Given the description of an element on the screen output the (x, y) to click on. 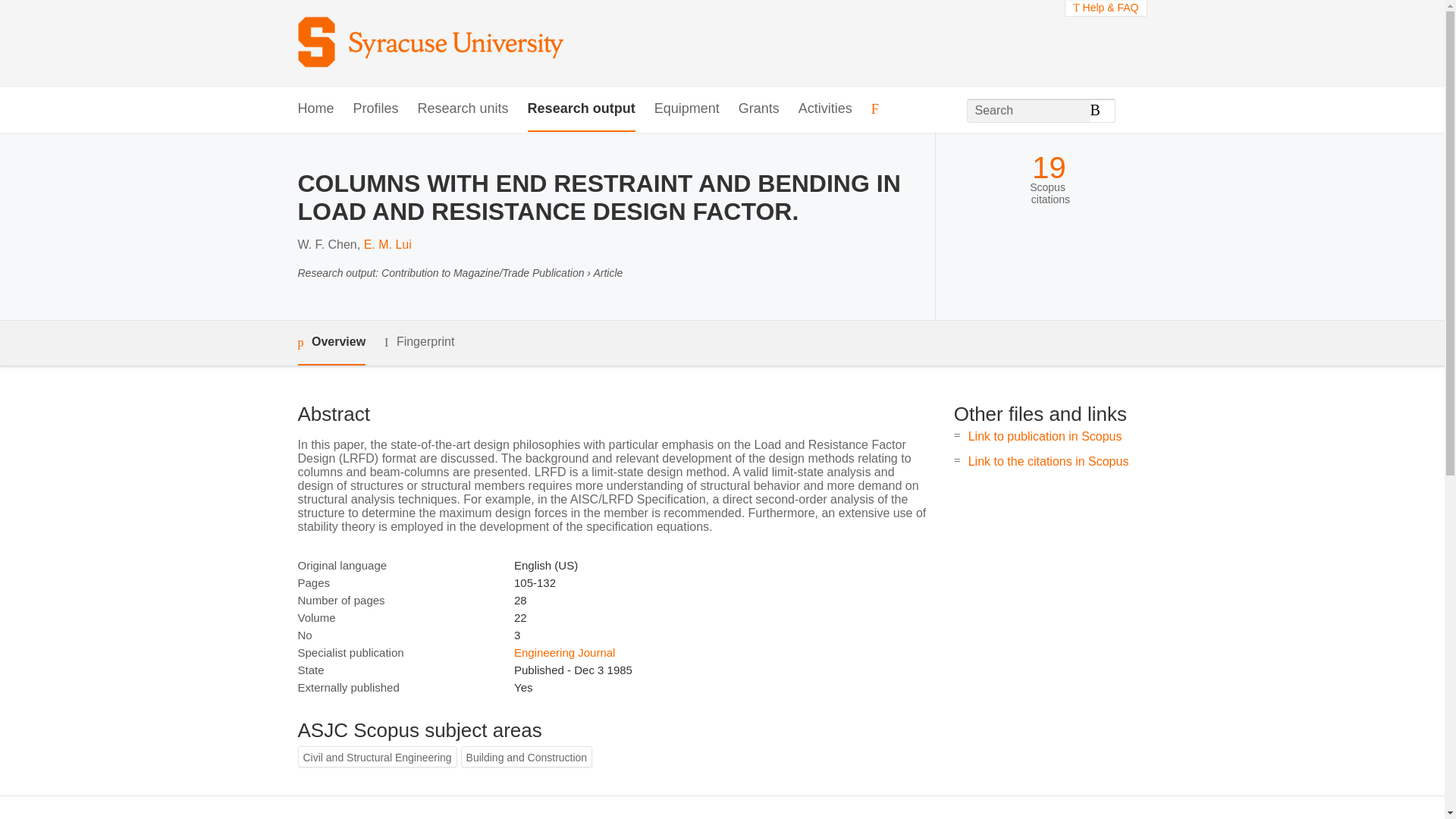
Profiles (375, 108)
Link to publication in Scopus (1045, 436)
Activities (824, 108)
Link to the citations in Scopus (1048, 461)
Overview (331, 343)
19 (1048, 167)
Fingerprint (419, 342)
Research output (580, 108)
Equipment (686, 108)
E. M. Lui (388, 244)
Grants (758, 108)
Engineering Journal (563, 652)
Research units (462, 108)
